Given the description of an element on the screen output the (x, y) to click on. 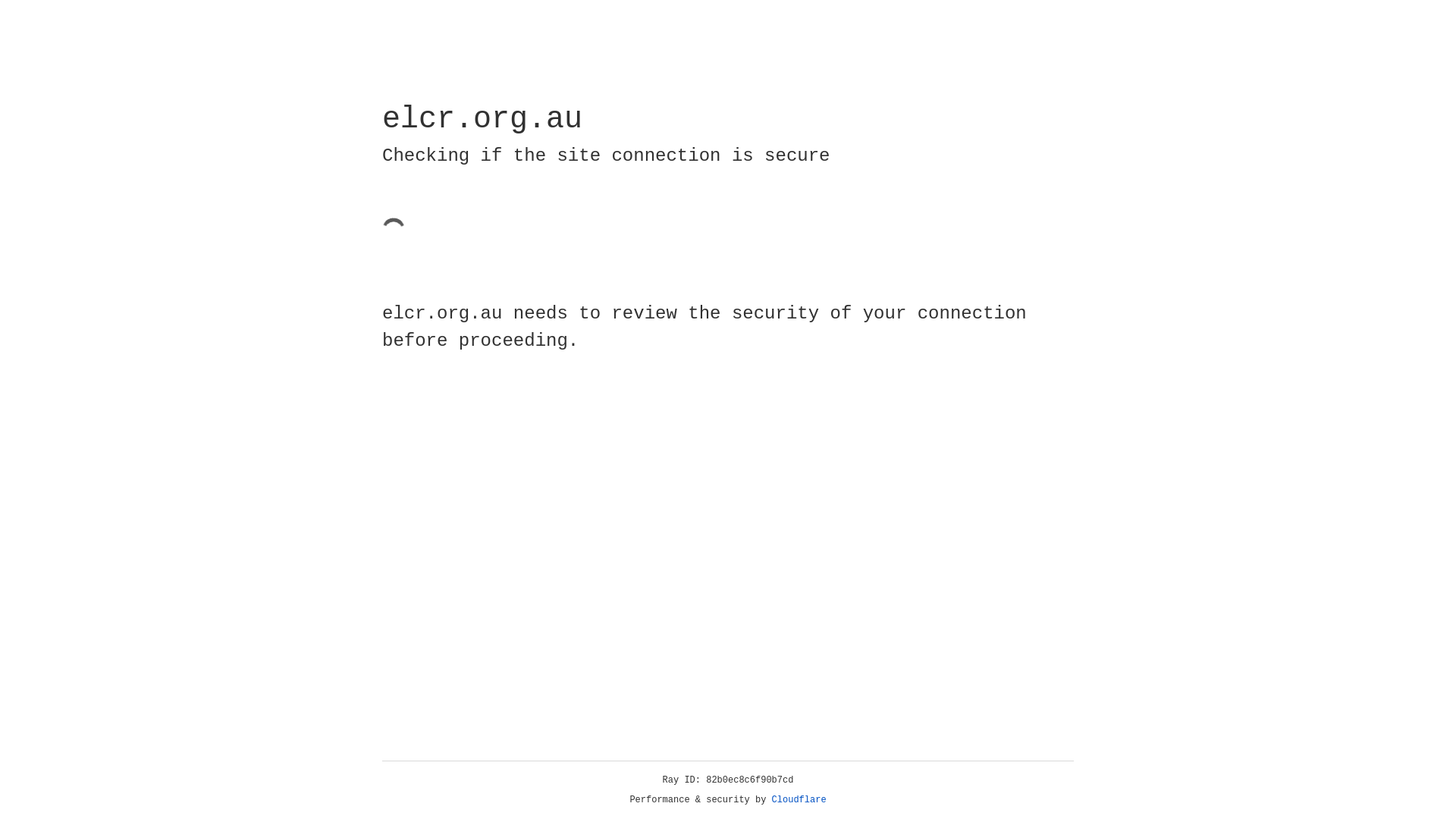
Cloudflare Element type: text (798, 799)
